Given the description of an element on the screen output the (x, y) to click on. 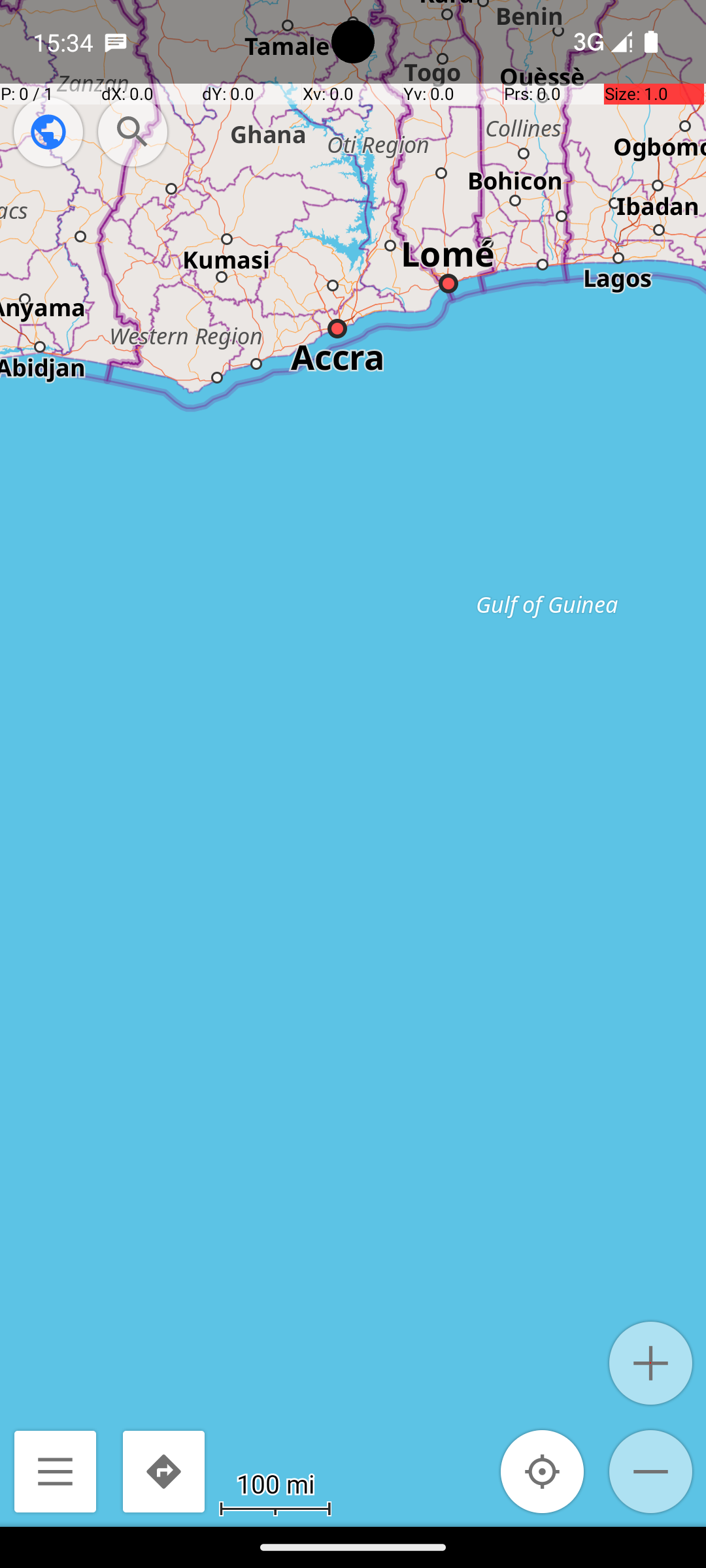
100 mi Element type: android.widget.TextView (274, 1483)
